Given the description of an element on the screen output the (x, y) to click on. 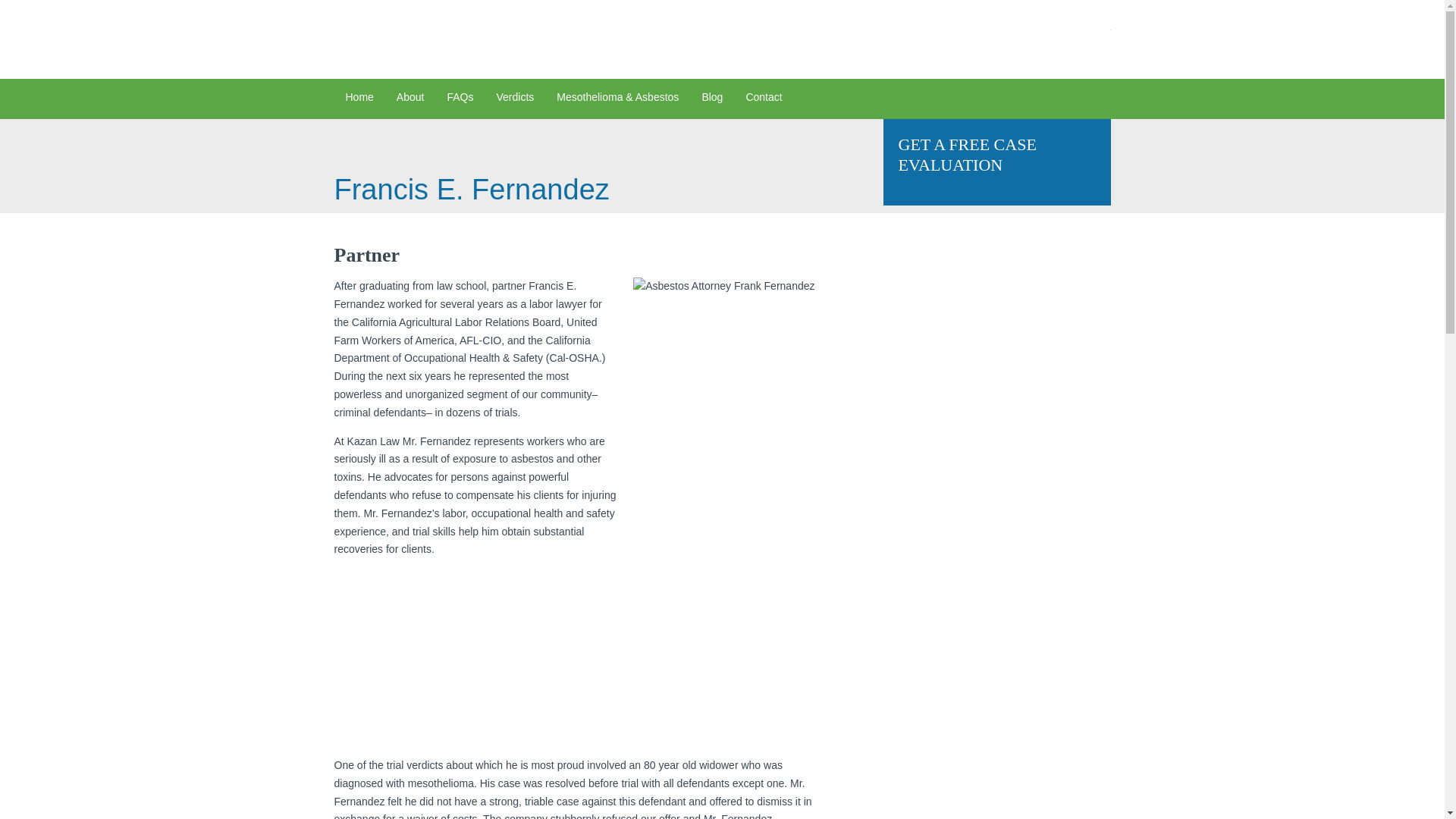
Home (358, 98)
Contact (763, 98)
About (410, 98)
Blog (711, 98)
FAQs (459, 98)
Verdicts (514, 98)
